Given the description of an element on the screen output the (x, y) to click on. 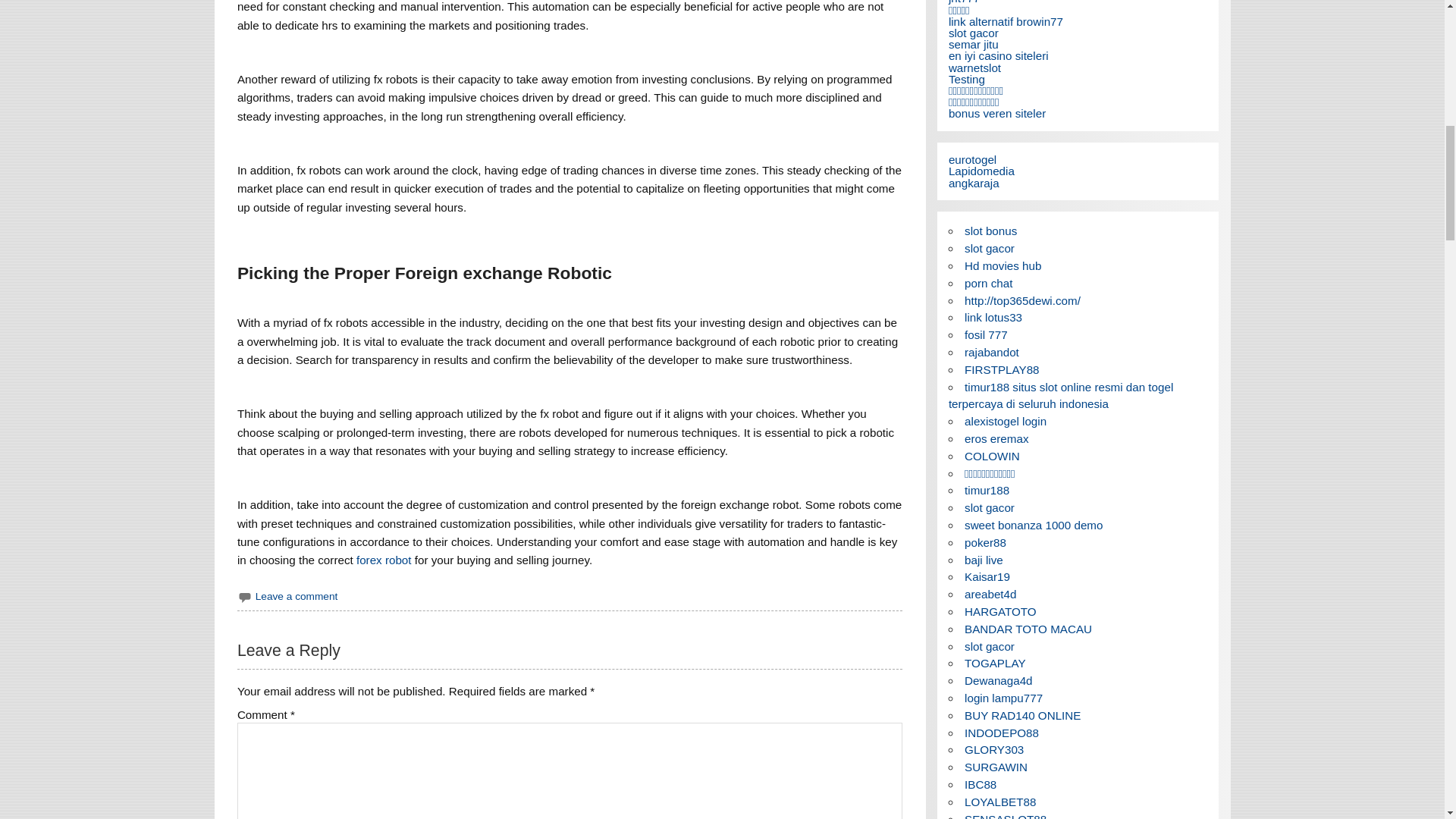
forex robot (384, 559)
link alternatif browin77 (1005, 21)
jnt777 (964, 2)
slot gacor (973, 32)
Leave a comment (296, 595)
